Given the description of an element on the screen output the (x, y) to click on. 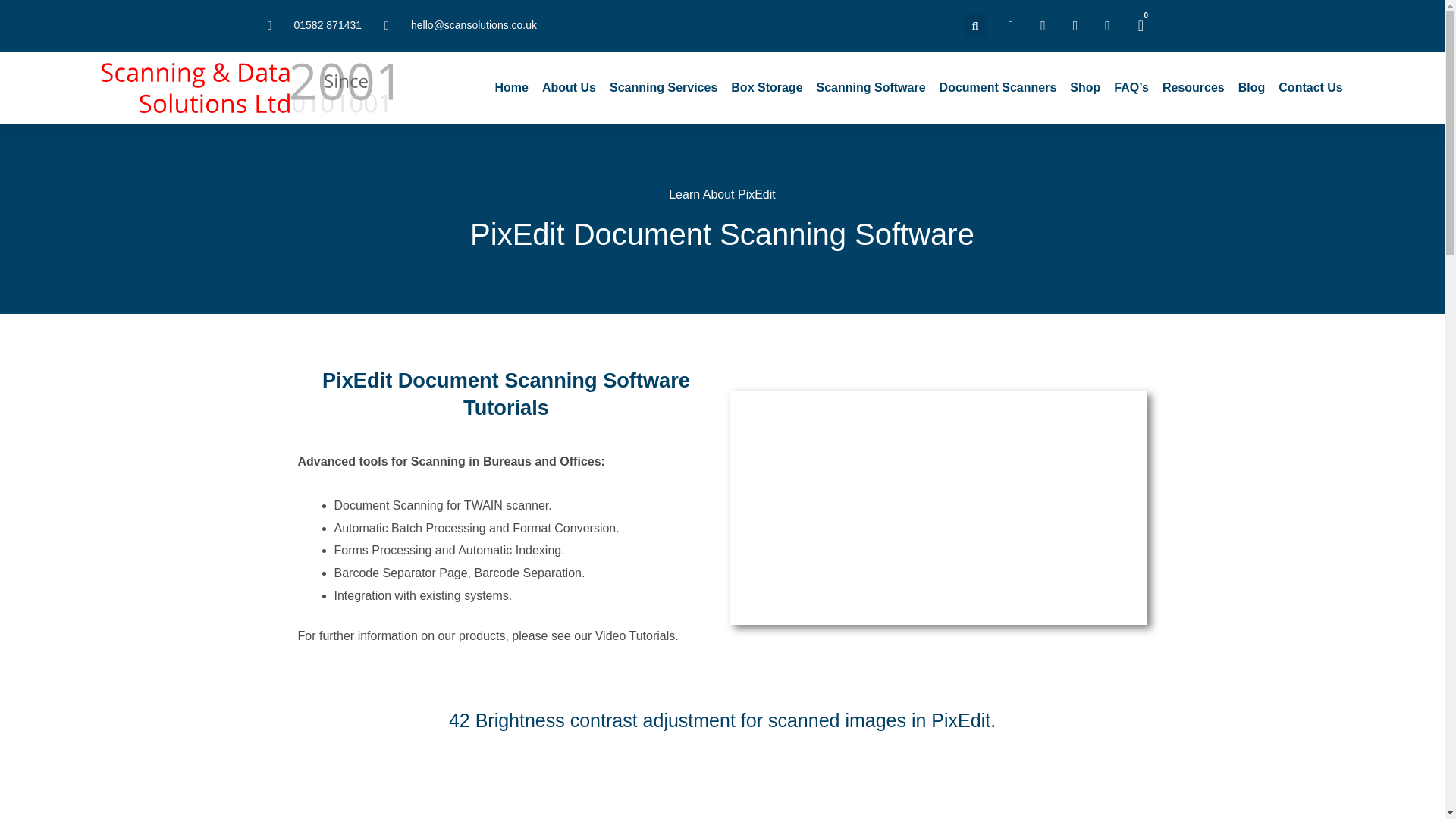
Scanning Software (871, 87)
Scanning Services (663, 87)
01582 871431 (1140, 25)
Home (313, 25)
Document Scanners (511, 87)
Box Storage (998, 87)
About Us (766, 87)
